Given the description of an element on the screen output the (x, y) to click on. 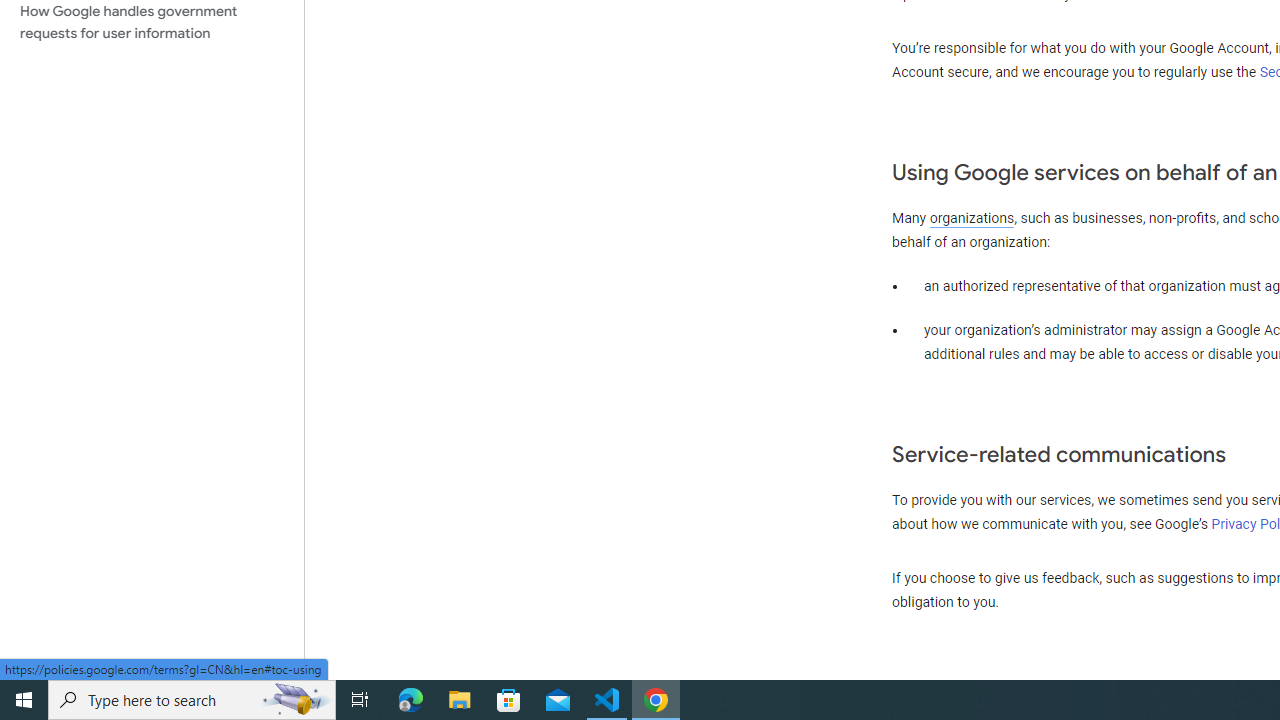
organizations (972, 218)
